Given the description of an element on the screen output the (x, y) to click on. 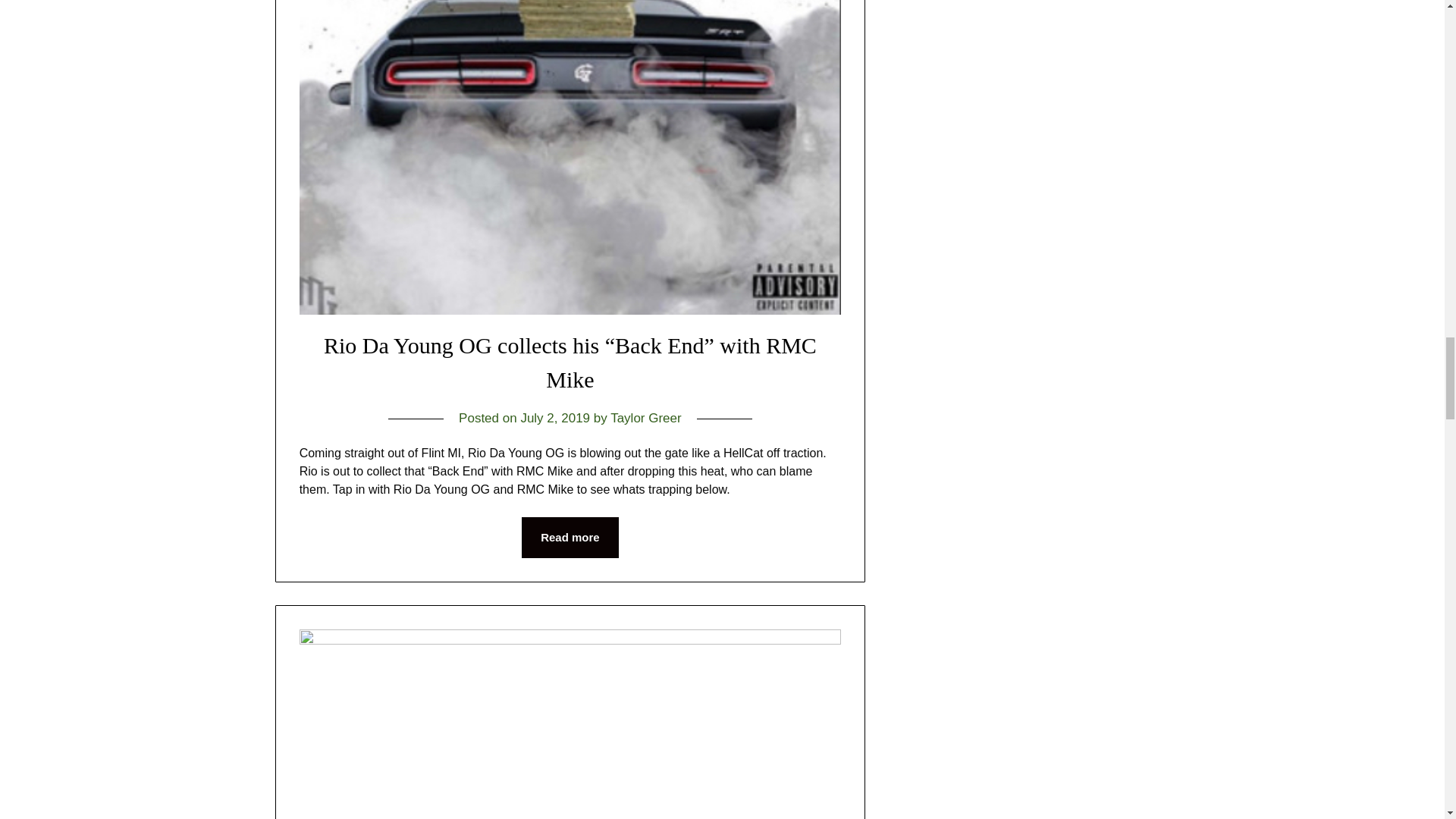
July 2, 2019 (554, 418)
Read more (569, 536)
Taylor Greer (645, 418)
